Given the description of an element on the screen output the (x, y) to click on. 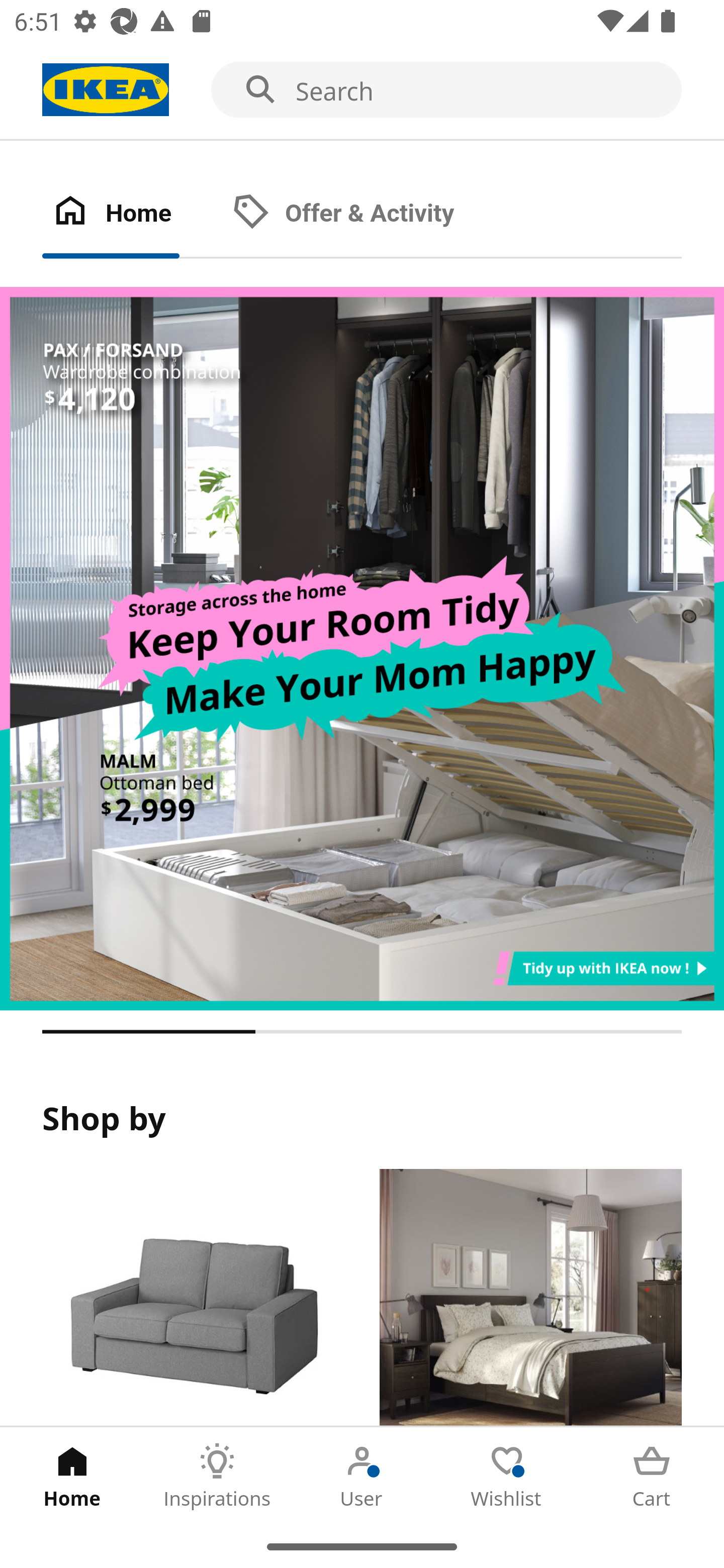
Search (361, 90)
Home
Tab 1 of 2 (131, 213)
Offer & Activity
Tab 2 of 2 (363, 213)
Products (192, 1297)
Rooms (530, 1297)
Home
Tab 1 of 5 (72, 1476)
Inspirations
Tab 2 of 5 (216, 1476)
User
Tab 3 of 5 (361, 1476)
Wishlist
Tab 4 of 5 (506, 1476)
Cart
Tab 5 of 5 (651, 1476)
